Given the description of an element on the screen output the (x, y) to click on. 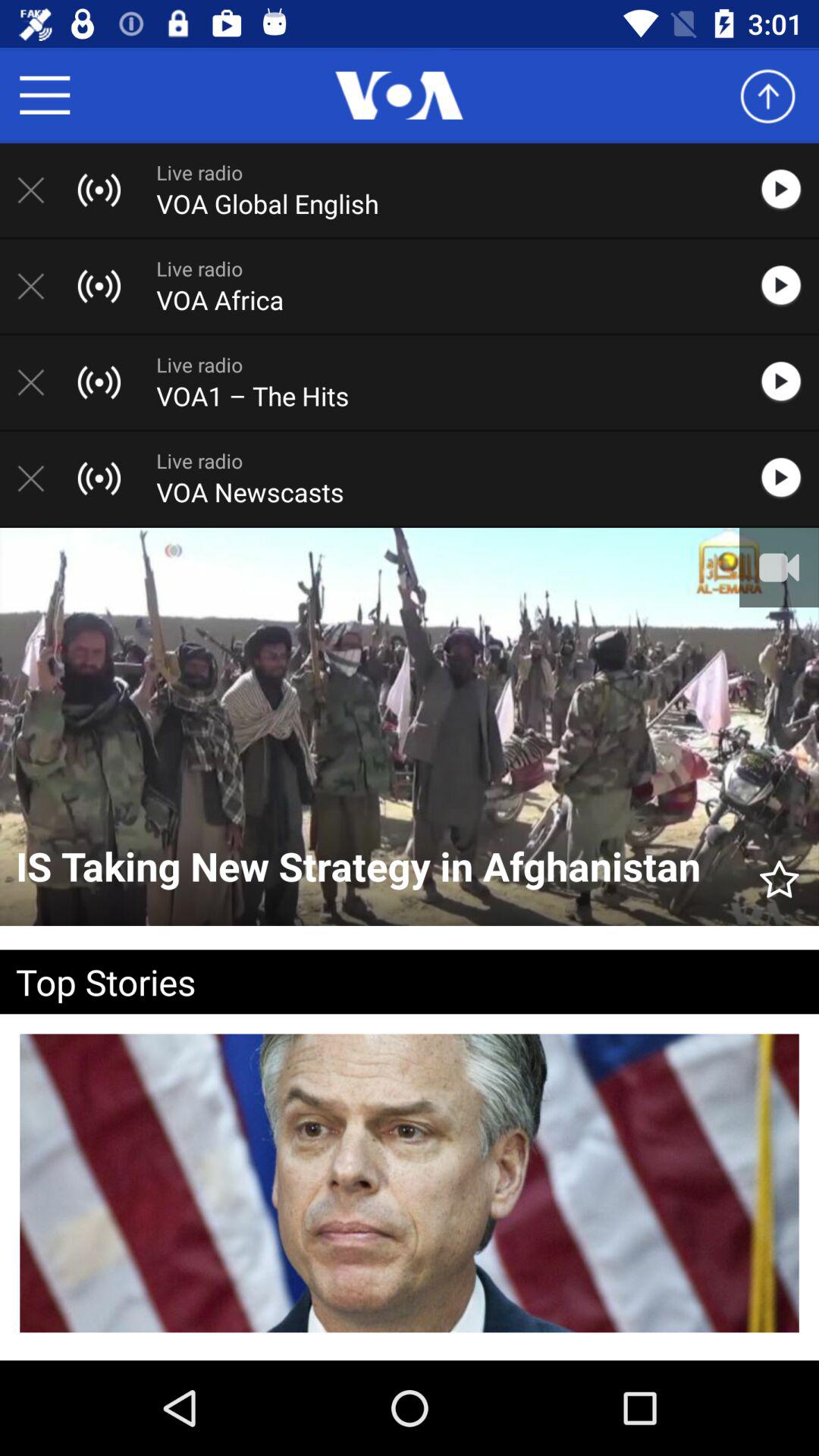
play this radio (789, 285)
